Given the description of an element on the screen output the (x, y) to click on. 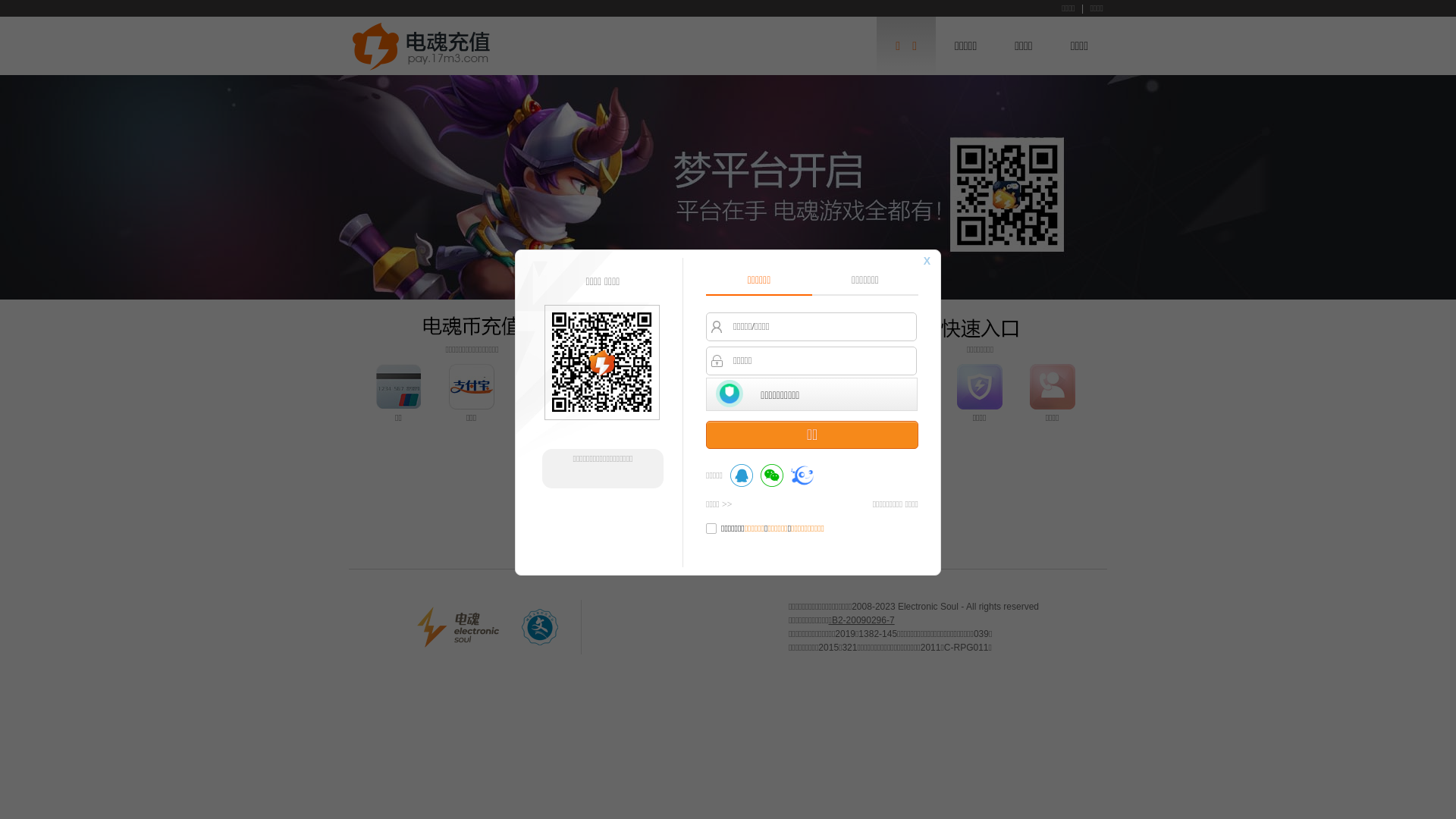
X Element type: text (926, 260)
